Given the description of an element on the screen output the (x, y) to click on. 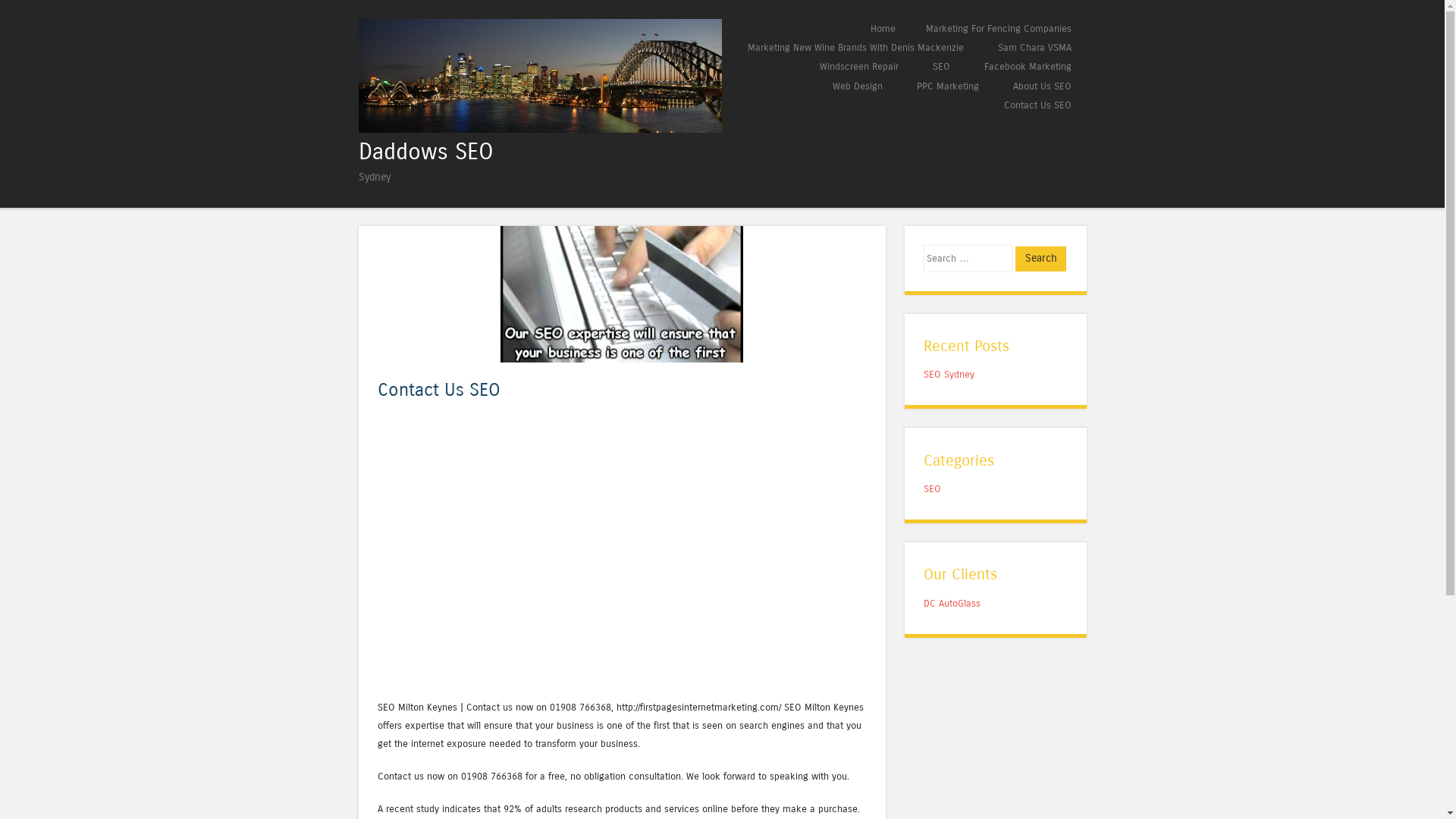
Home Element type: text (882, 27)
SEO Element type: text (941, 65)
Skip to content Element type: text (769, 27)
Marketing New Wine Brands With Denis Mackenzie Element type: text (855, 46)
SEO Element type: text (932, 488)
Windscreen Repair Element type: text (858, 65)
Search Element type: text (1040, 258)
Web Design Element type: text (857, 85)
Marketing For Fencing Companies Element type: text (997, 27)
PPC Marketing Element type: text (946, 85)
Facebook Marketing Element type: text (1027, 65)
DC AutoGlass Element type: text (951, 602)
Daddows SEO Element type: hover (539, 128)
SEO Sydney Element type: text (948, 373)
Daddows SEO Element type: text (424, 151)
Sam Chara VSMA Element type: text (1034, 46)
About Us SEO Element type: text (1041, 85)
Contact Us SEO Element type: text (1037, 104)
